Given the description of an element on the screen output the (x, y) to click on. 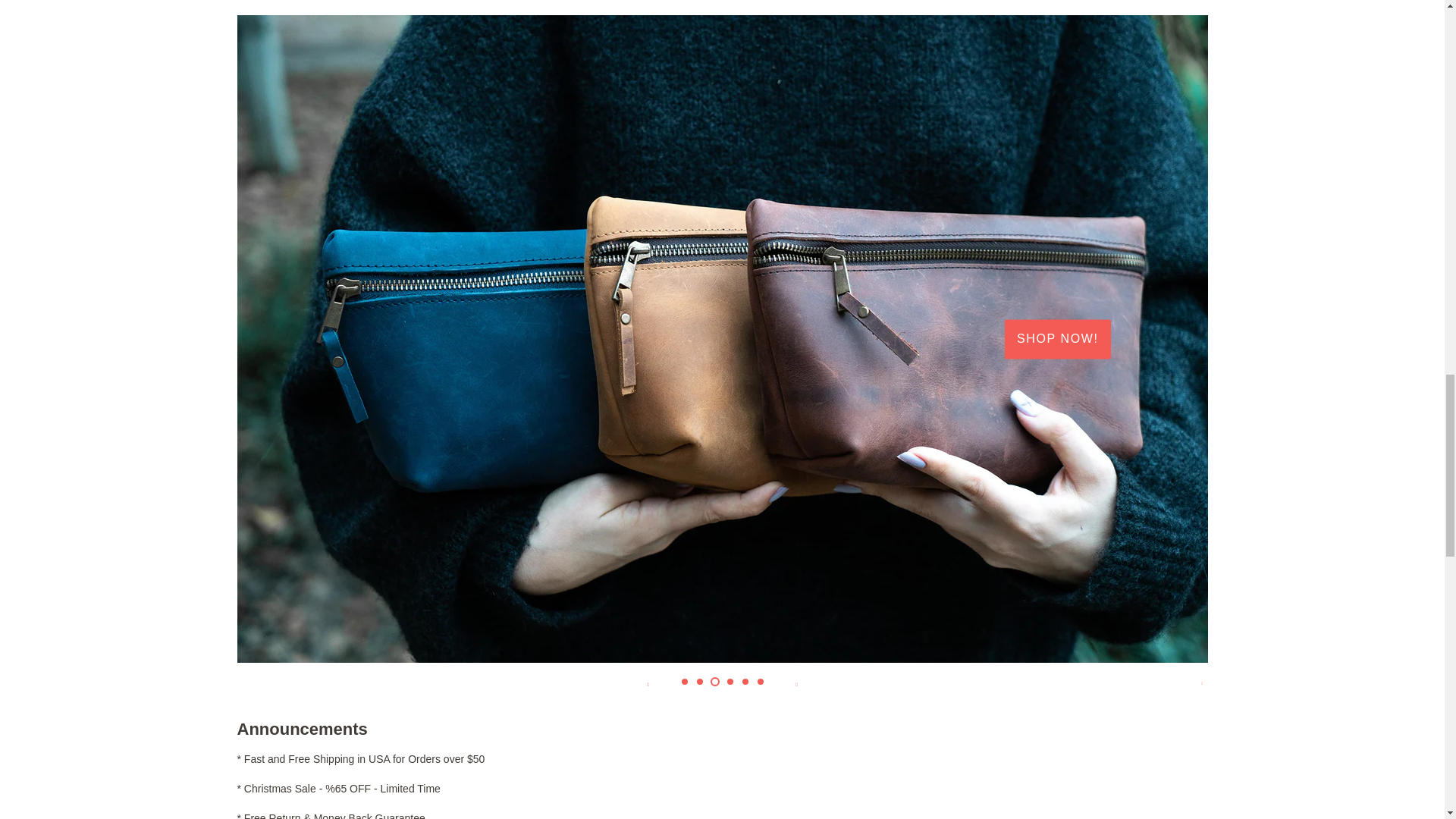
SHOP NOW! (1056, 339)
